Given the description of an element on the screen output the (x, y) to click on. 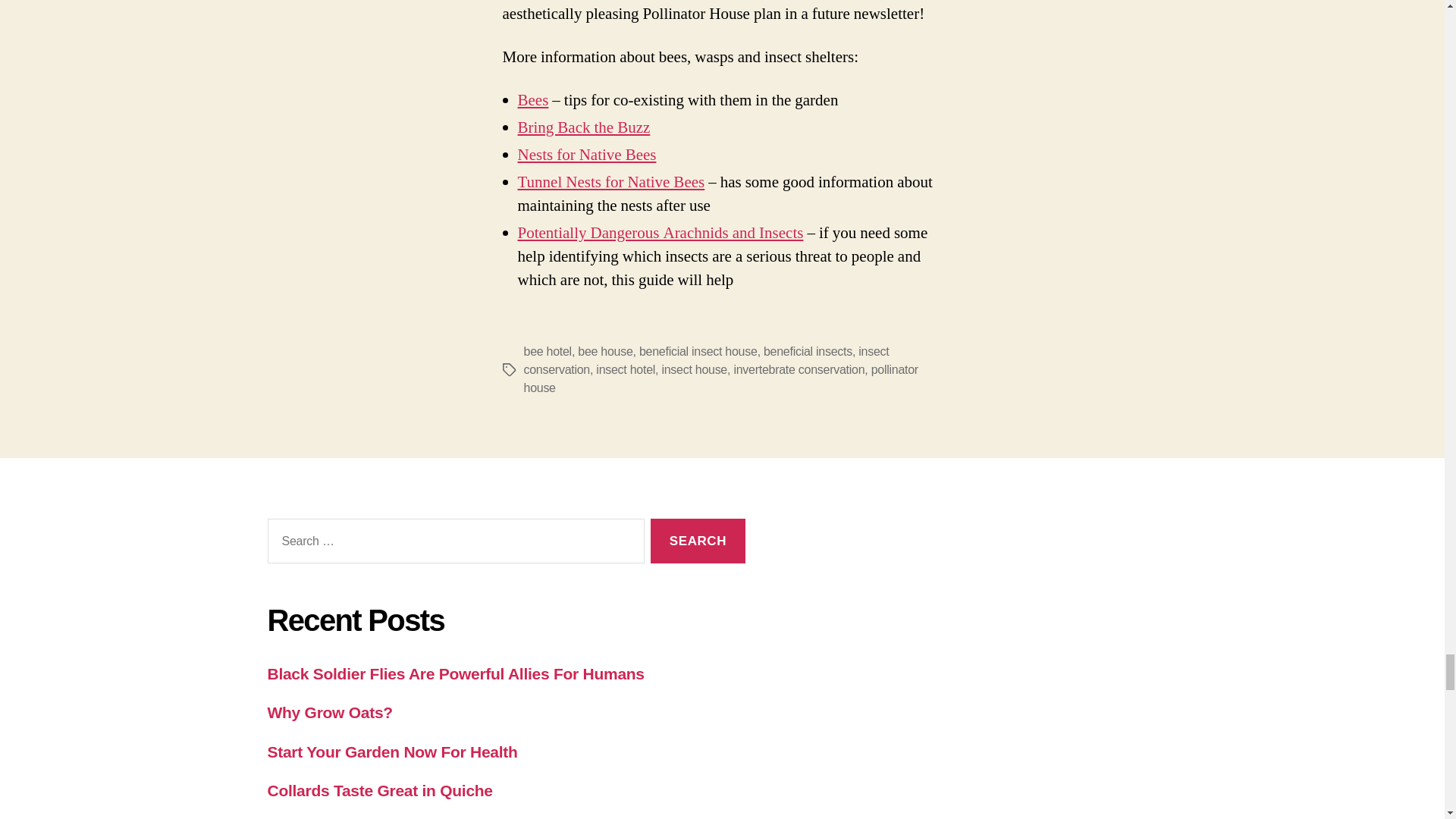
Search (697, 540)
Search (697, 540)
